Given the description of an element on the screen output the (x, y) to click on. 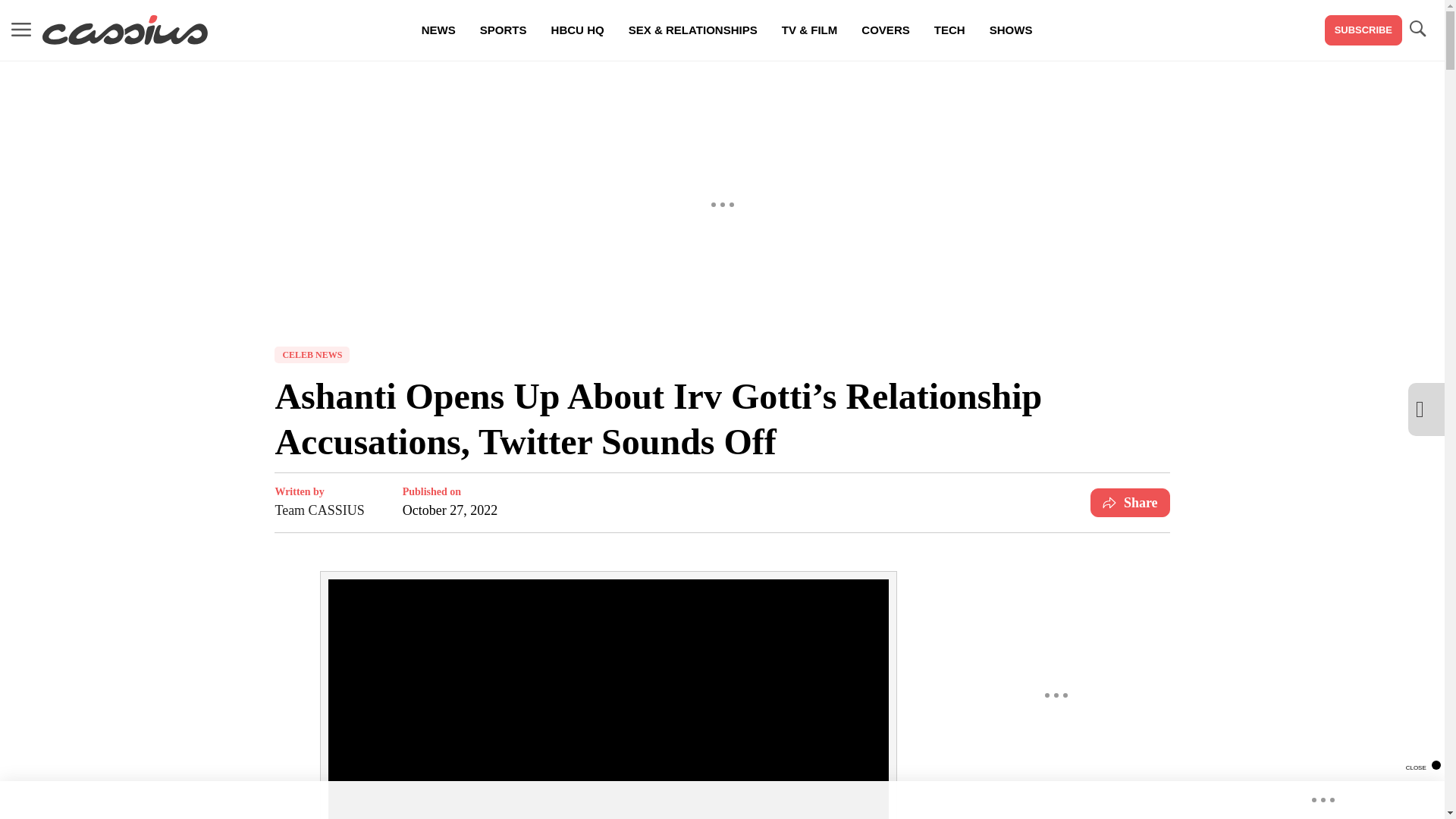
SPORTS (502, 30)
NEWS (438, 30)
COVERS (884, 30)
MENU (20, 29)
HBCU HQ (576, 30)
MENU (20, 30)
TOGGLE SEARCH (1417, 30)
CELEB NEWS (312, 354)
Team CASSIUS (319, 509)
TECH (948, 30)
SUBSCRIBE (1363, 30)
Share (1130, 502)
SHOWS (1010, 30)
TOGGLE SEARCH (1417, 28)
